Given the description of an element on the screen output the (x, y) to click on. 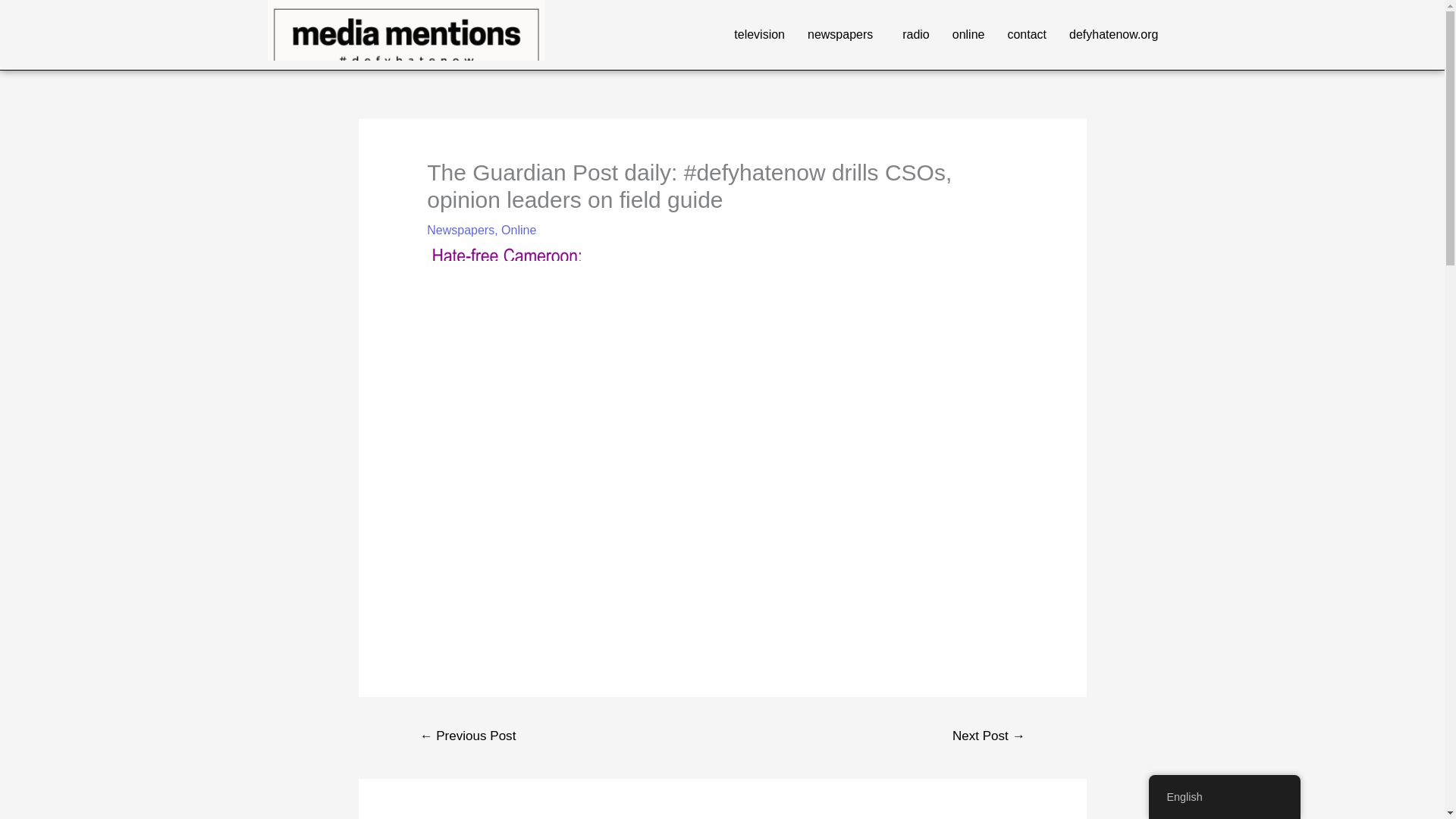
English (1224, 796)
newspapers   (843, 34)
Newspapers (460, 229)
television (759, 34)
radio (915, 34)
online (967, 34)
defyhatenow.org (1113, 34)
Online (517, 229)
contact (1026, 34)
